Given the description of an element on the screen output the (x, y) to click on. 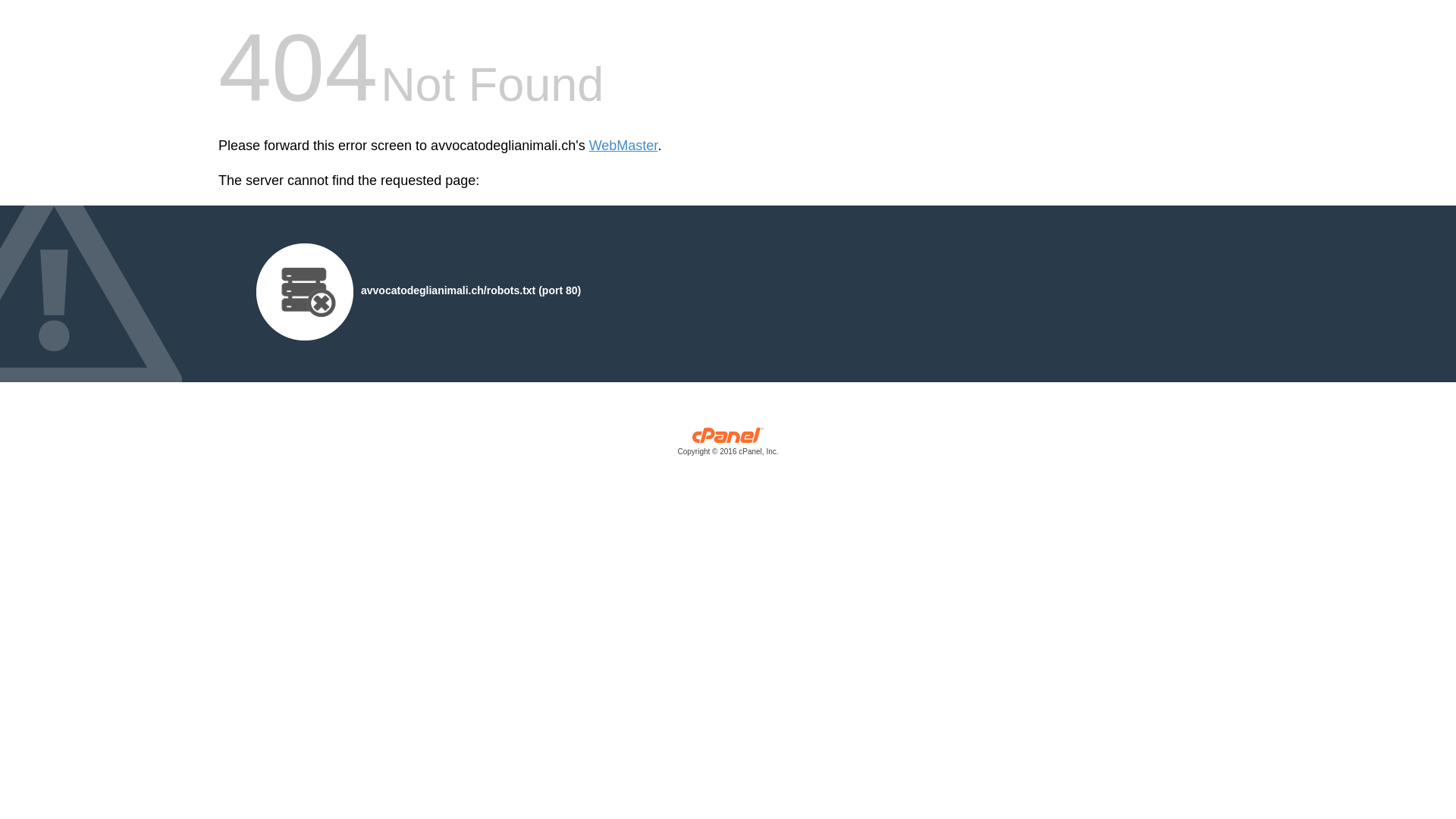
WebMaster Element type: text (623, 145)
